Given the description of an element on the screen output the (x, y) to click on. 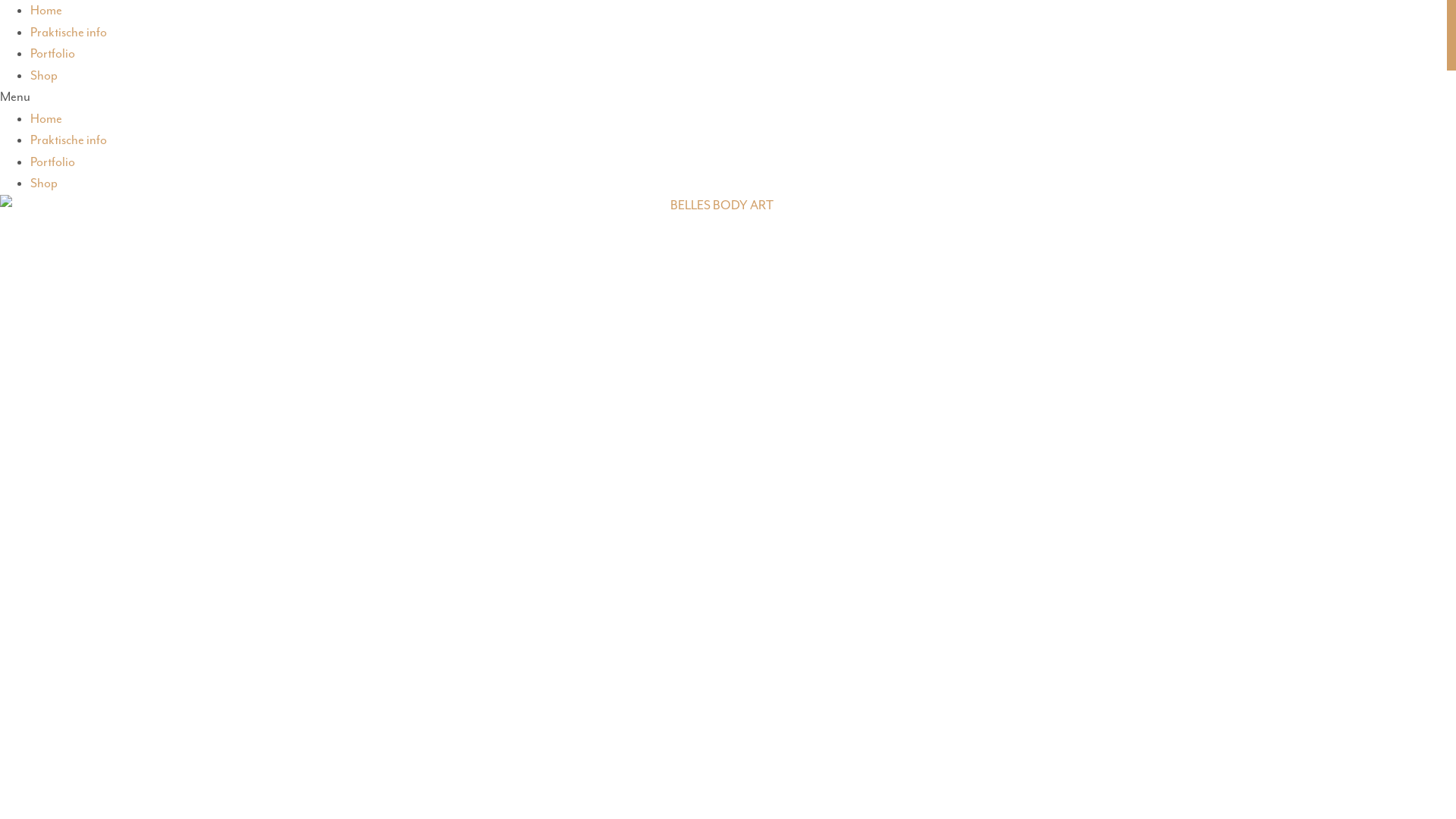
Home Element type: text (46, 118)
Portfolio Element type: text (52, 161)
Portfolio Element type: text (52, 53)
Home Element type: text (46, 10)
Shop Element type: text (43, 183)
Shop Element type: text (43, 74)
Praktische info Element type: text (68, 139)
Praktische info Element type: text (68, 32)
